Given the description of an element on the screen output the (x, y) to click on. 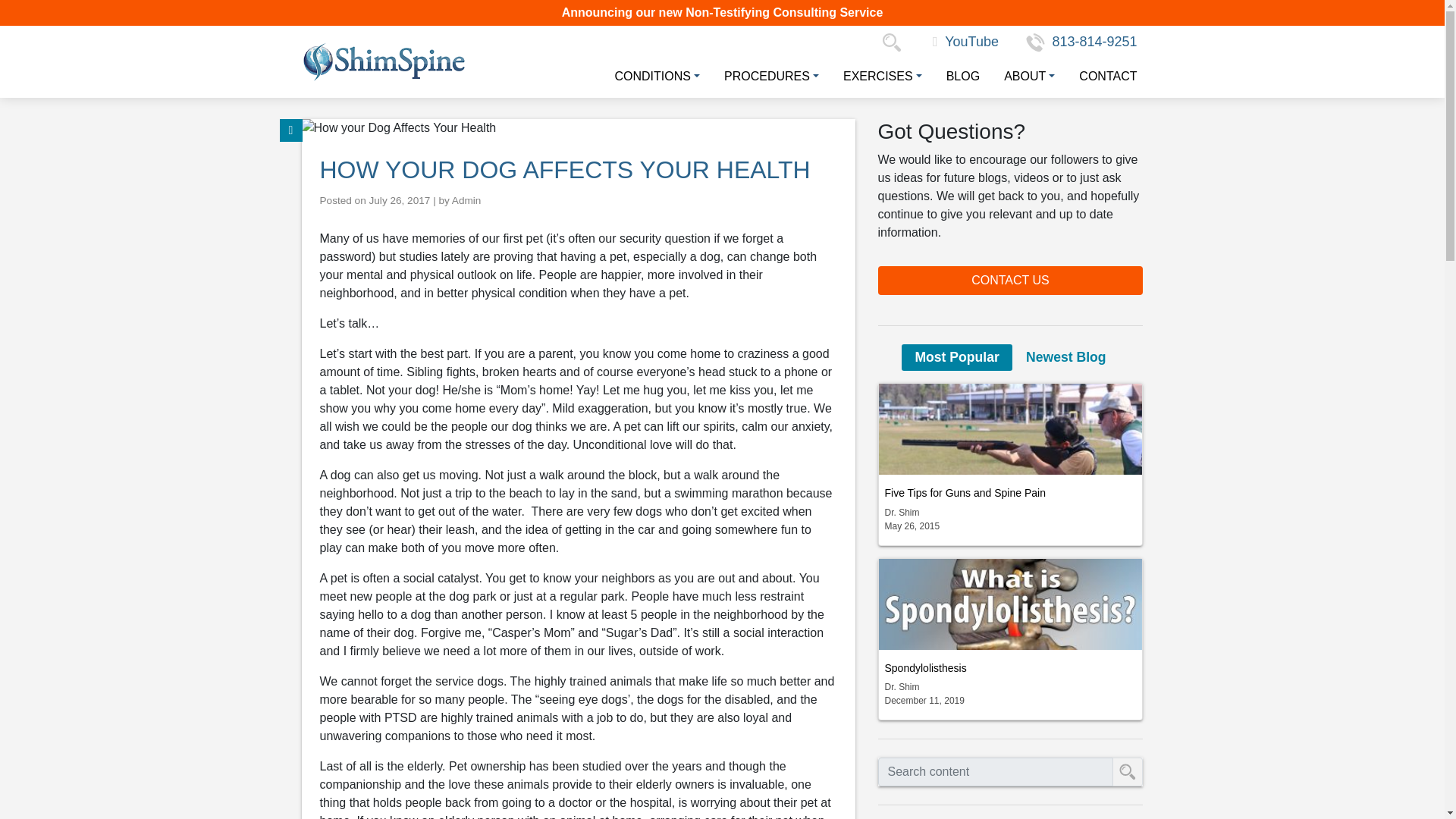
EXERCISES (876, 76)
Conditions (650, 76)
Search Magnifying Glass (895, 41)
BLOG (956, 76)
CONDITIONS (650, 76)
Search (895, 41)
Phone Icon (1035, 42)
Announcing our new Non-Testifying Consulting Service (722, 11)
Announcing our new Non-Testifying Consulting Service (722, 11)
ShimSpine YouTube Channel (965, 41)
